Given the description of an element on the screen output the (x, y) to click on. 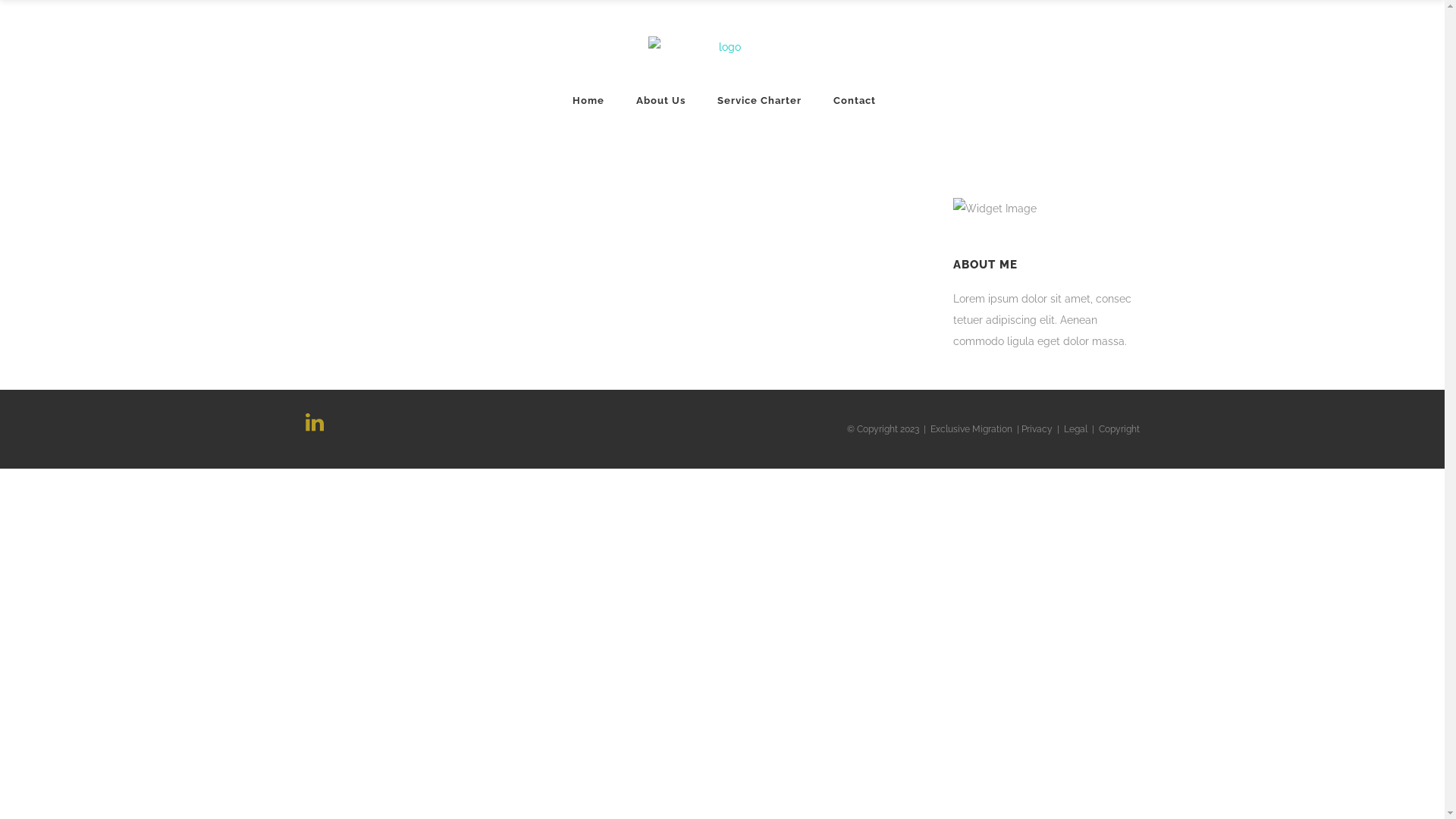
Copyright Element type: text (1118, 428)
Privacy Element type: text (1035, 428)
Contact Element type: text (854, 99)
Service Charter Element type: text (758, 99)
About Us Element type: text (660, 99)
Legal Element type: text (1074, 428)
Home Element type: text (588, 99)
